Given the description of an element on the screen output the (x, y) to click on. 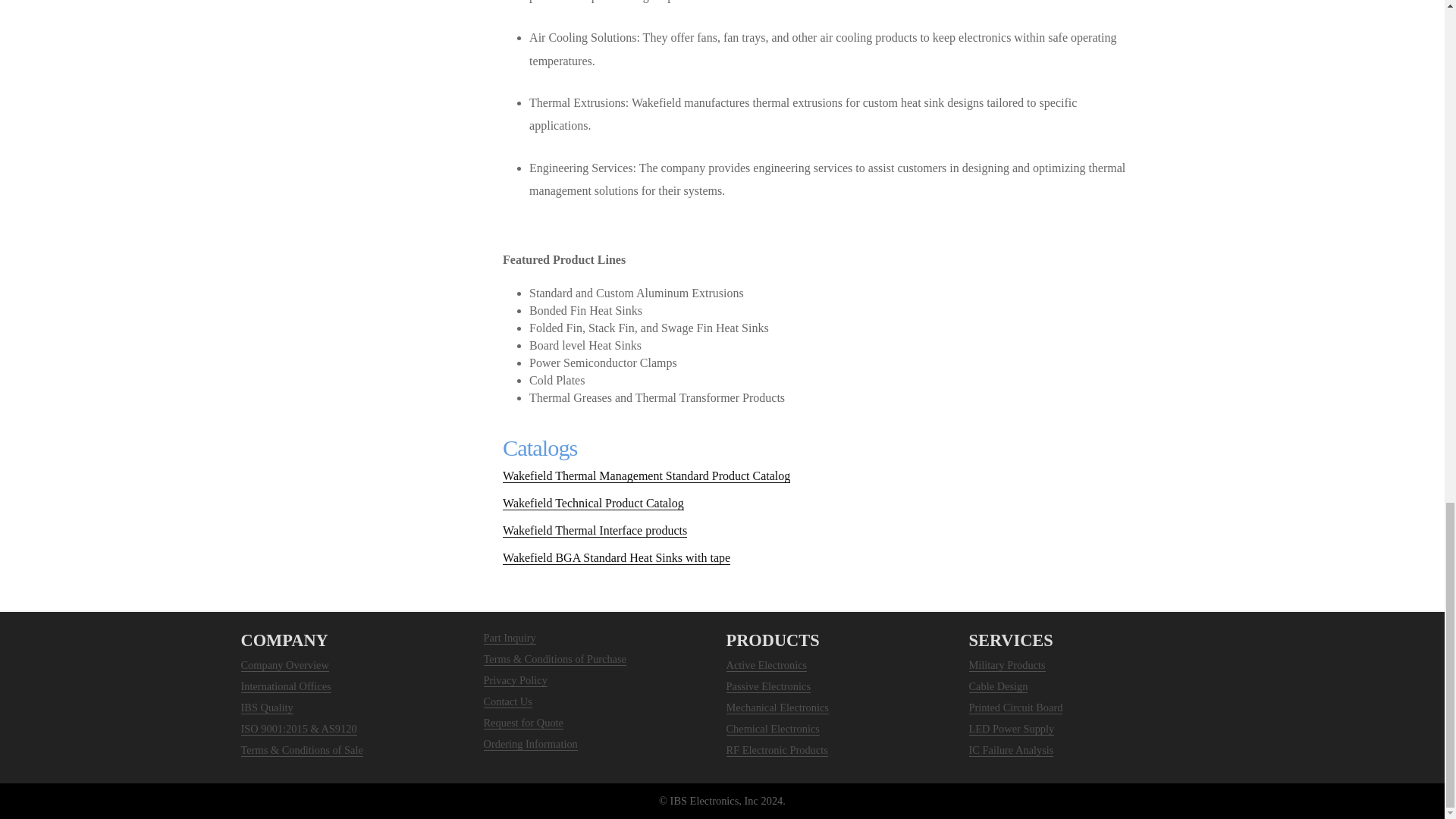
Part Inquiry (509, 637)
IBS Quality (267, 707)
Wakefield Thermal Management Standard Product Catalog (646, 476)
Wakefield Technical Product Catalog (593, 503)
Wakefield BGA Standard Heat Sinks with tape (616, 558)
International Offices (286, 686)
Wakefield Thermal Interface products (594, 530)
Company Overview (285, 665)
